Given the description of an element on the screen output the (x, y) to click on. 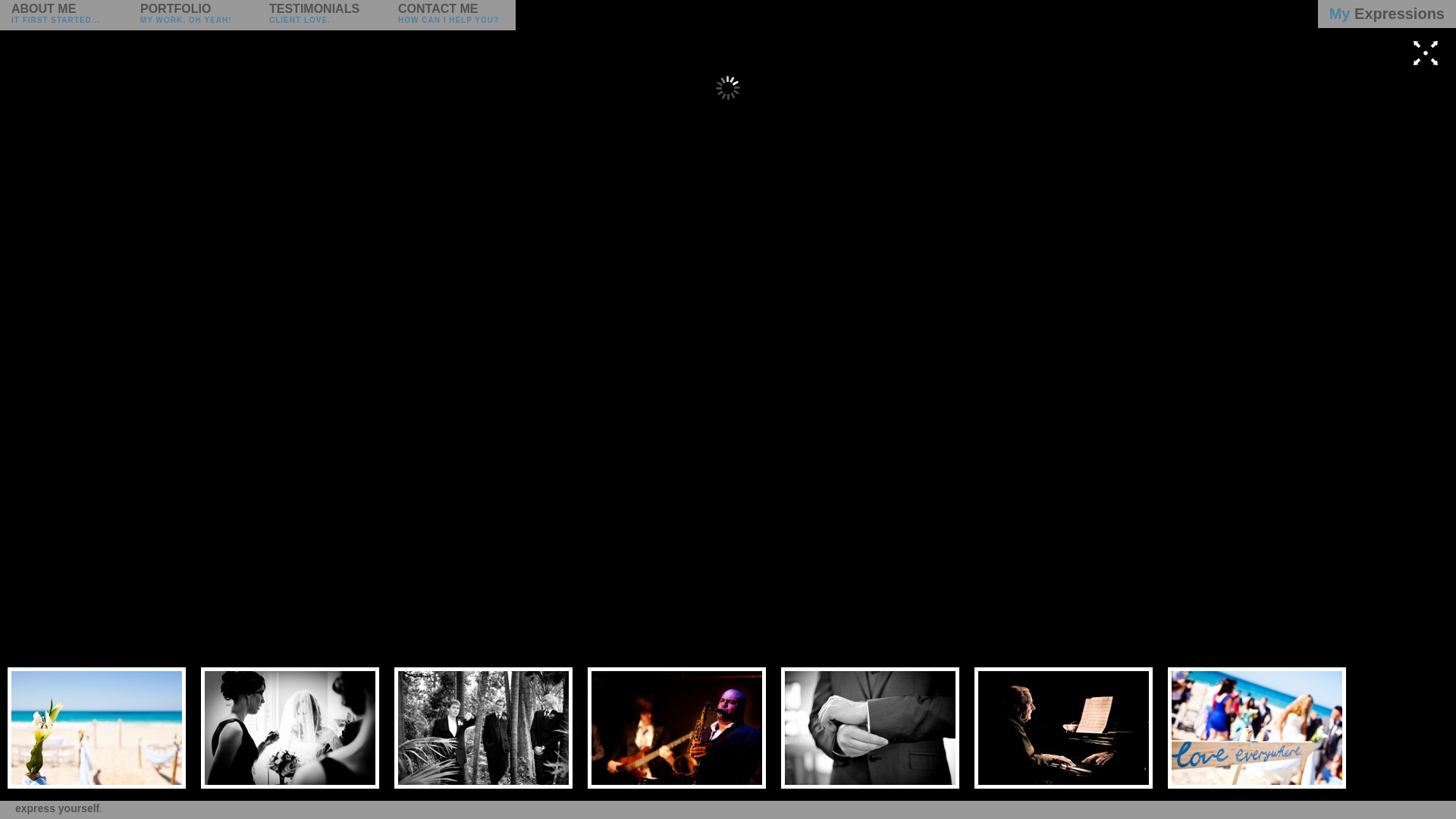
next Element type: hover (1429, 409)
Maximize Element type: hover (1425, 68)
TESTIMONIALS
CLIENT LOVE. Element type: text (321, 15)
The groomsmen at UWA Element type: hover (483, 727)
beach wedding dunsborough-Pullman Resort bunker bay Element type: hover (96, 727)
love everywhere Element type: hover (1256, 727)
PORTFOLIO
MY WORK. OH YEAH! Element type: text (192, 15)
previous Element type: hover (26, 409)
Grooms final touches Element type: hover (870, 727)
Troy roberts playing sax at the Ellington jazz club perth Element type: hover (676, 727)
Playing piano at the Ellington jazz club perth Element type: hover (1063, 727)
CONTACT ME
HOW CAN I HELP YOU? Element type: text (450, 15)
ABOUT ME
IT FIRST STARTED... Element type: text (64, 15)
